Given the description of an element on the screen output the (x, y) to click on. 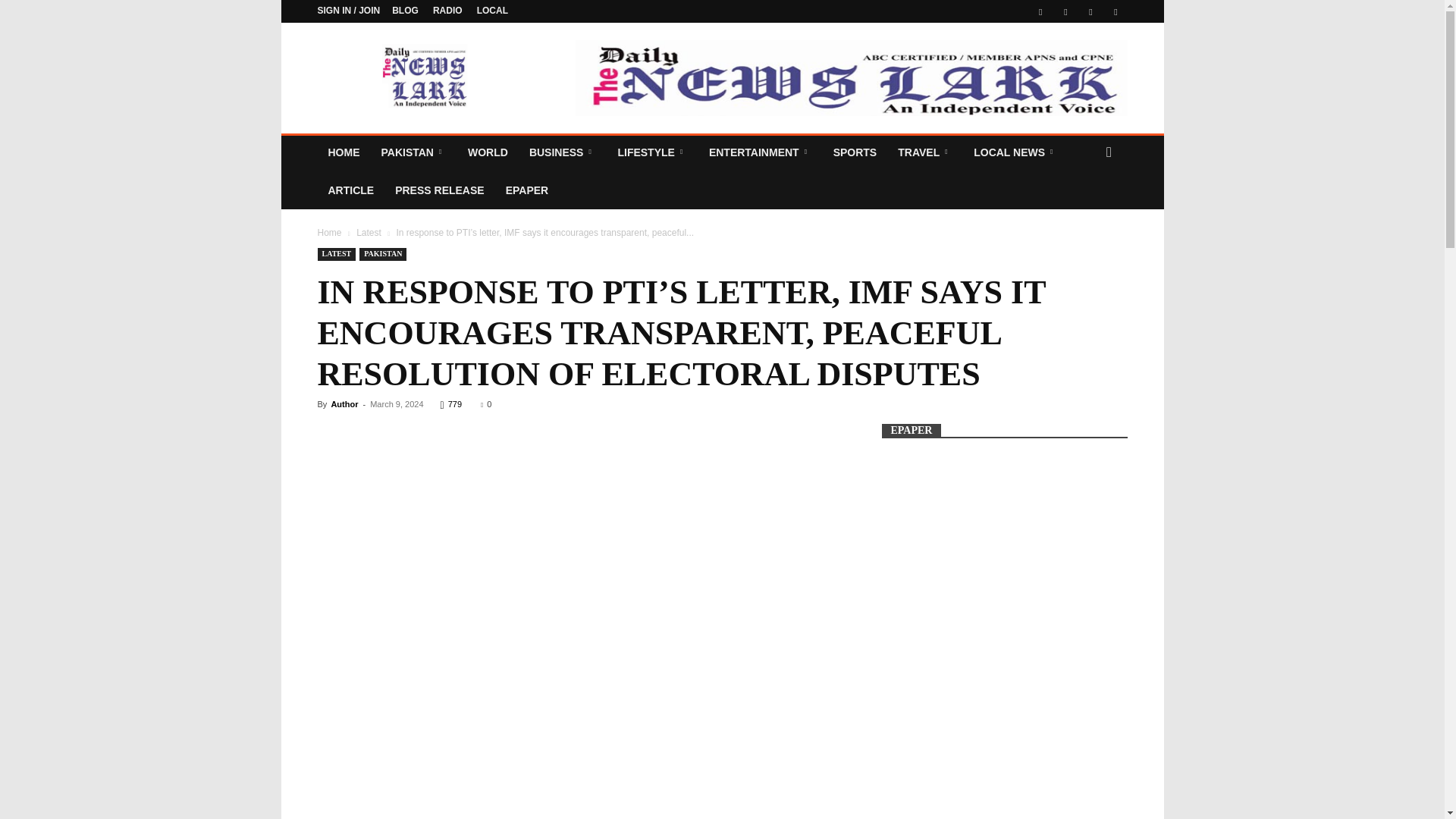
RADIO (447, 9)
Youtube (1114, 11)
VKontakte (1090, 11)
LOCAL (492, 9)
Twitter (1065, 11)
BLOG (405, 9)
Facebook (1040, 11)
